Given the description of an element on the screen output the (x, y) to click on. 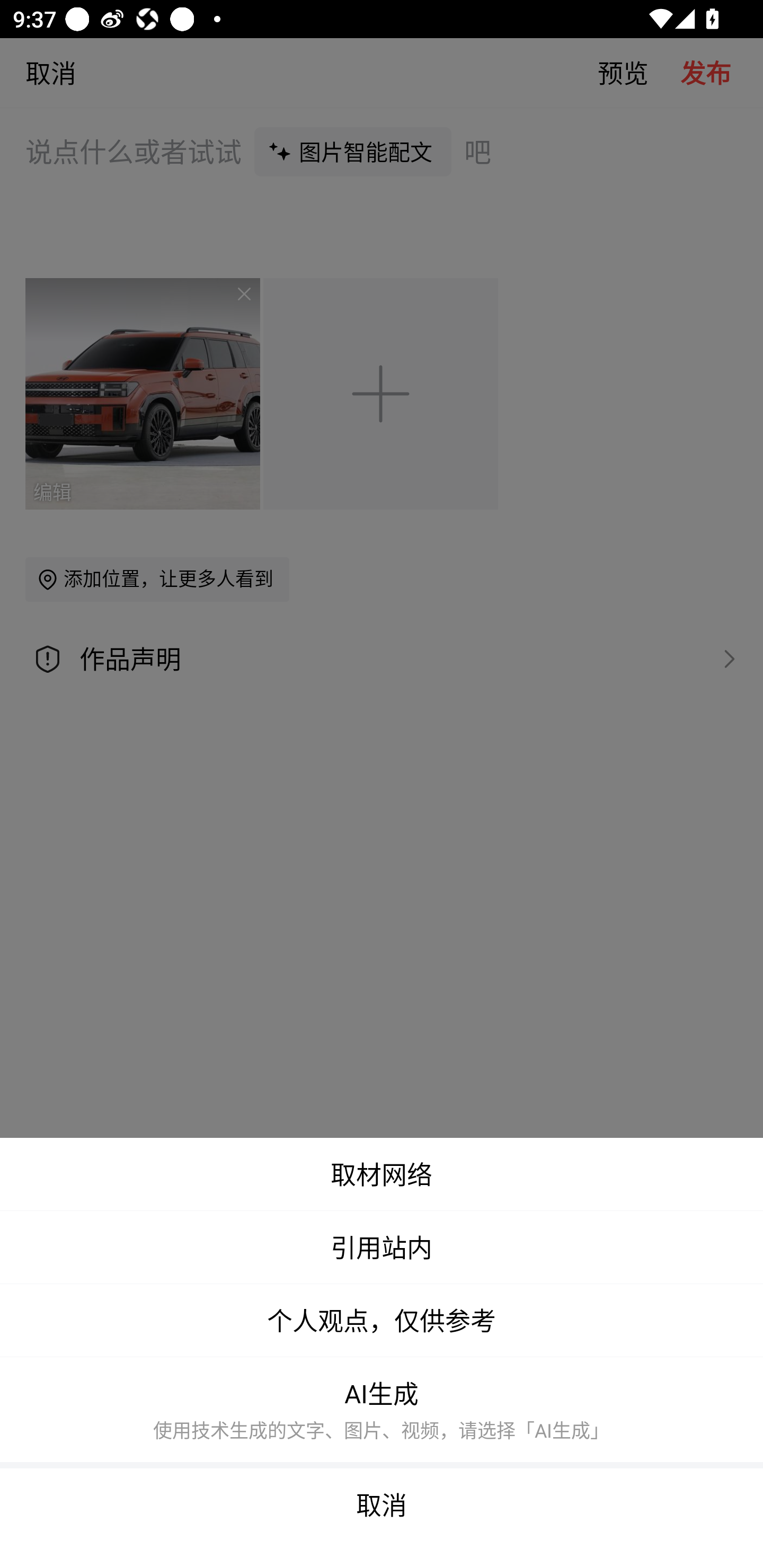
取材网络 (381, 1174)
引用站内 (381, 1247)
个人观点，仅供参考 (381, 1320)
AI生成 使用技术生成的文字、图片、视频，请选择「AI生成」 (381, 1412)
取消 (381, 1517)
